Given the description of an element on the screen output the (x, y) to click on. 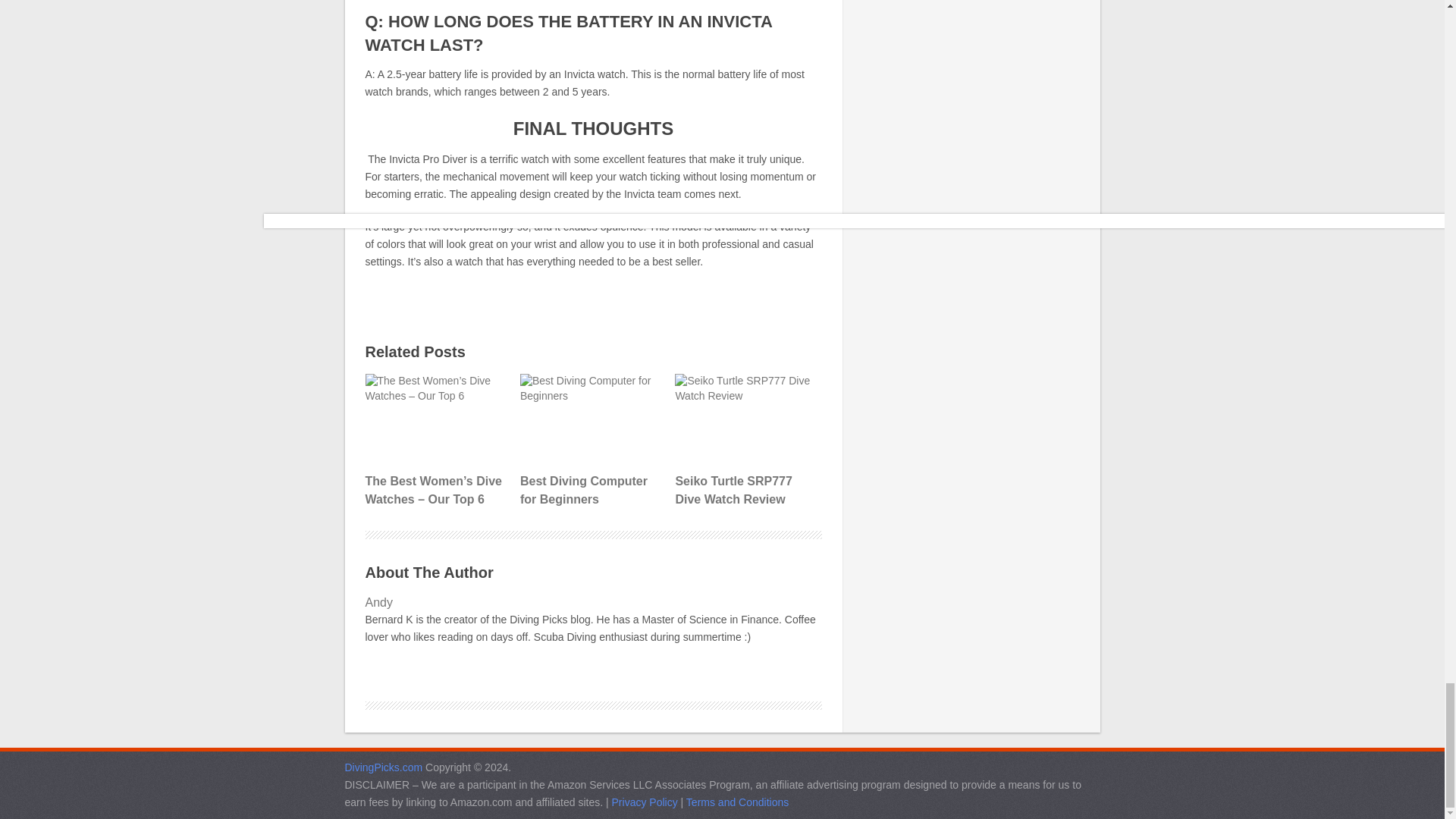
Seiko Turtle SRP777 Dive Watch Review (746, 419)
Best Diving Computer for Beginners (591, 419)
Best Diving Computer for Beginners (591, 440)
Seiko Turtle SRP777 Dive Watch Review (746, 440)
